Given the description of an element on the screen output the (x, y) to click on. 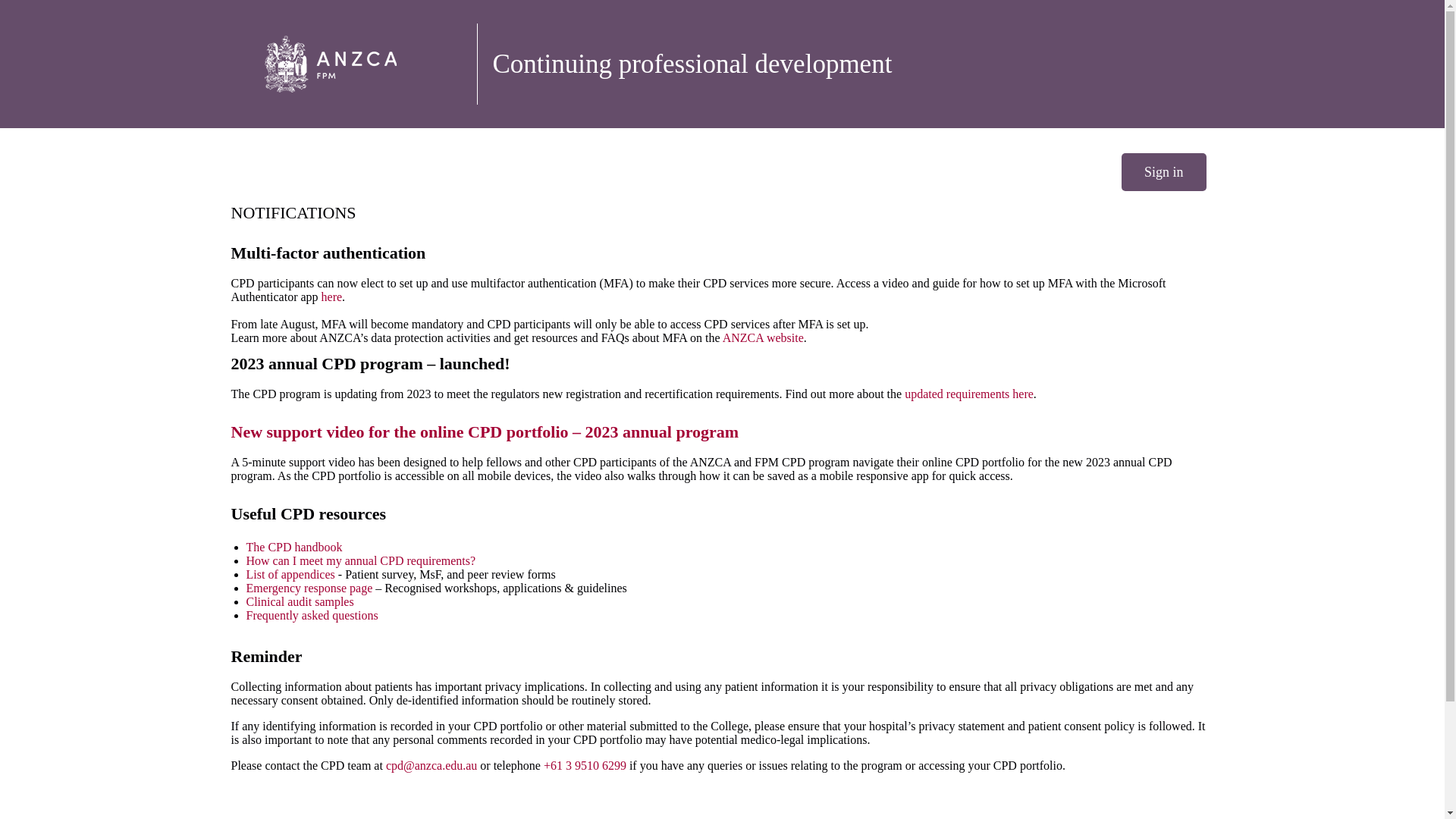
here (331, 296)
List of appendices (290, 574)
Emergency response page (309, 587)
Clinical audit samples (299, 601)
Sign in (1164, 171)
Frequently asked questions (311, 615)
The CPD handbook (294, 546)
updated requirements here (968, 393)
Back to the Dashboard (350, 63)
ANZCA website (762, 337)
How can I meet my annual CPD requirements? (361, 560)
